Given the description of an element on the screen output the (x, y) to click on. 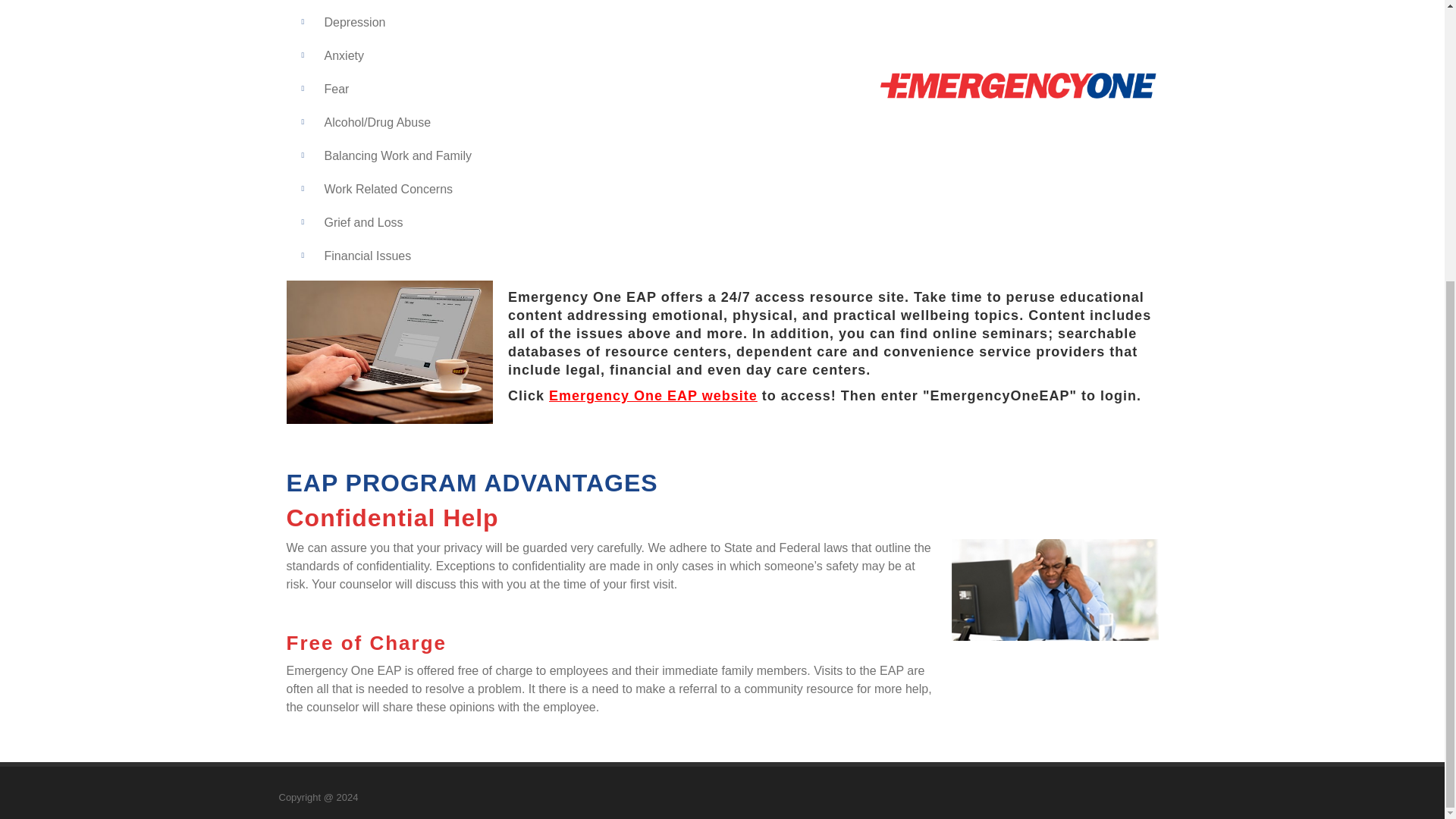
Emergency One EAP website (652, 395)
